Given the description of an element on the screen output the (x, y) to click on. 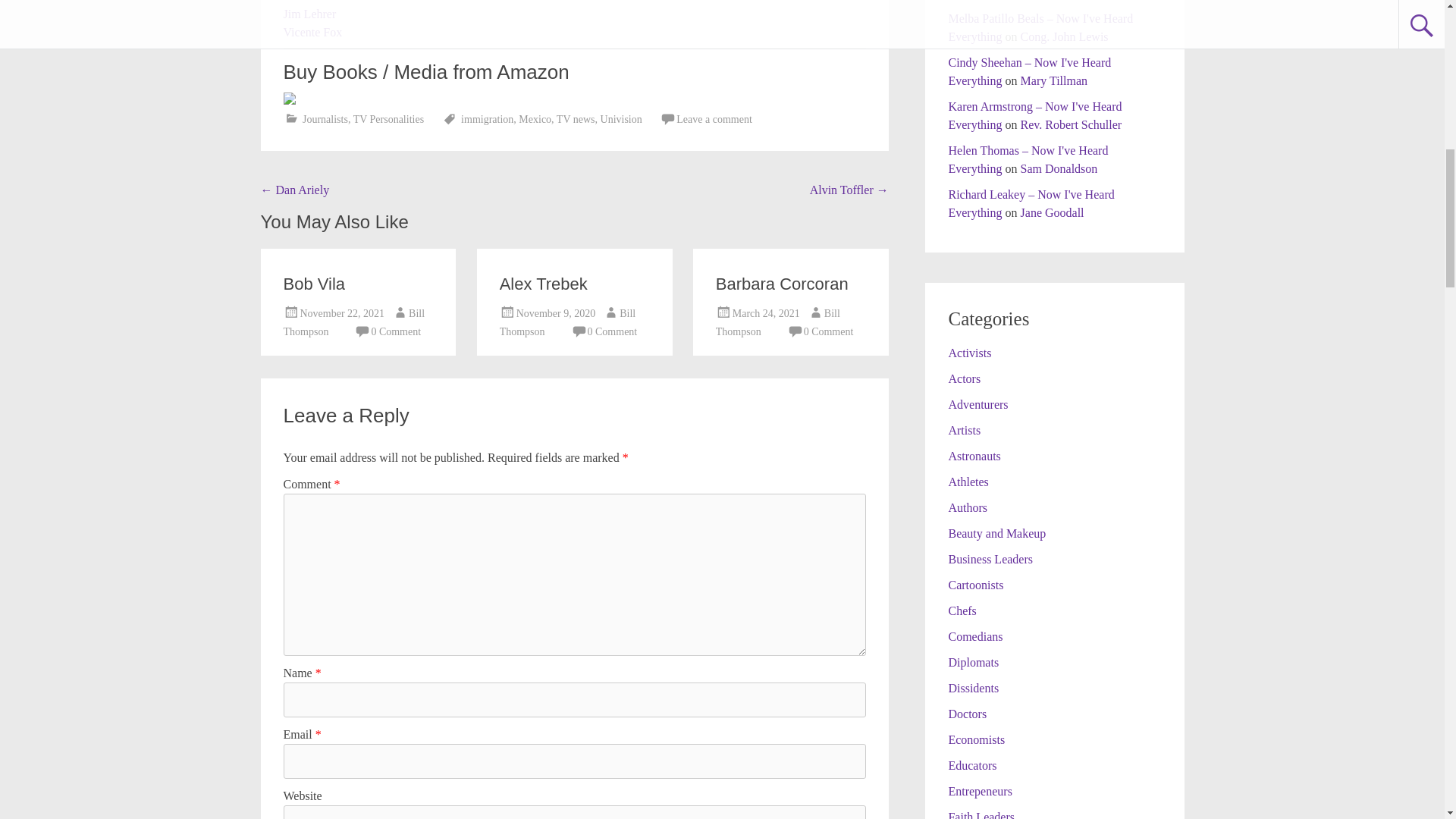
0 Comment (612, 331)
Journalists (324, 119)
Bill Thompson (354, 322)
Alex Trebek (543, 283)
Univision (620, 119)
Alex Trebek (543, 283)
Cong. John Lewis (1064, 36)
0 Comment (828, 331)
Bill Thompson (567, 322)
immigration (487, 119)
